Given the description of an element on the screen output the (x, y) to click on. 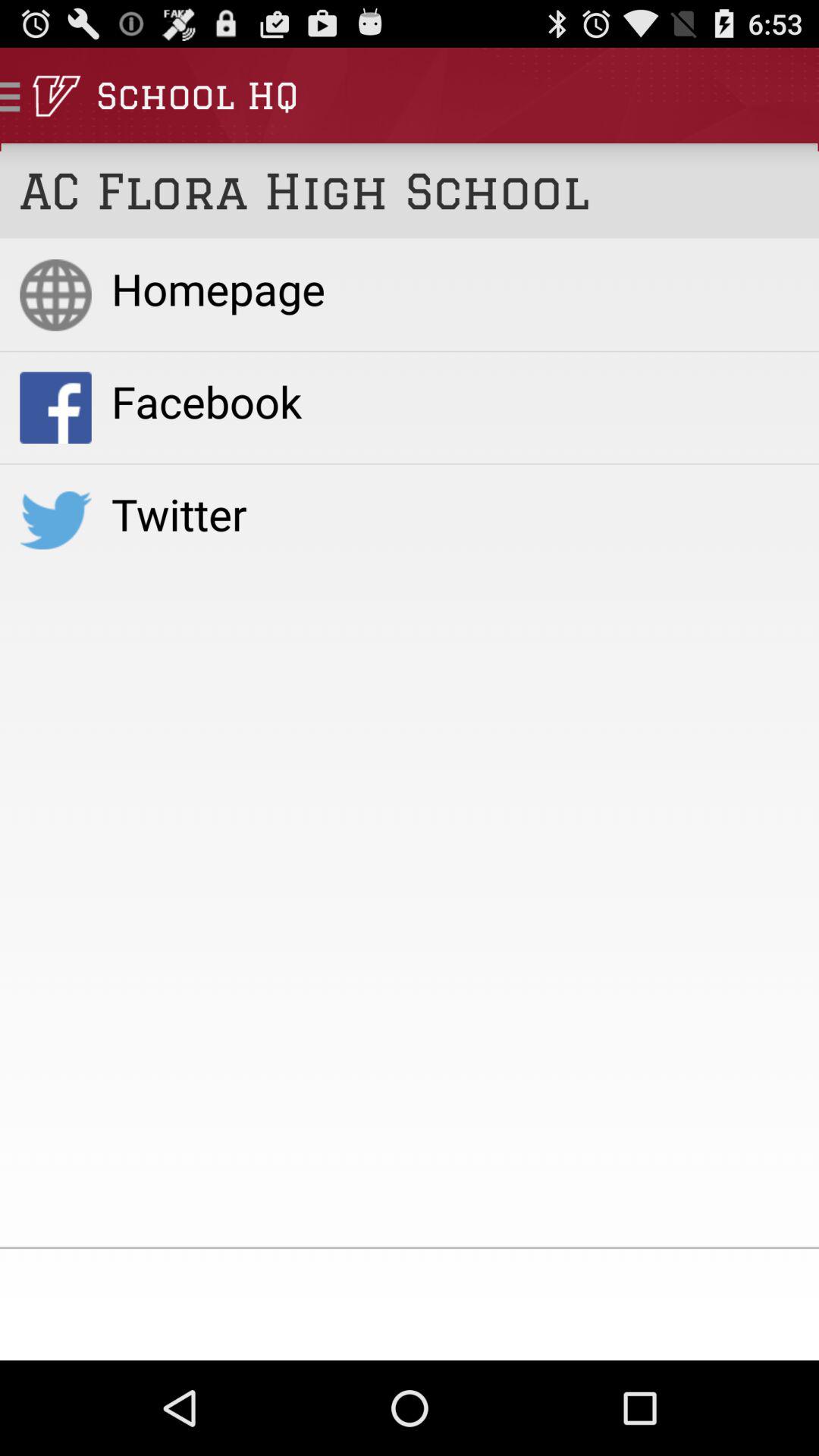
select item above facebook (455, 288)
